Given the description of an element on the screen output the (x, y) to click on. 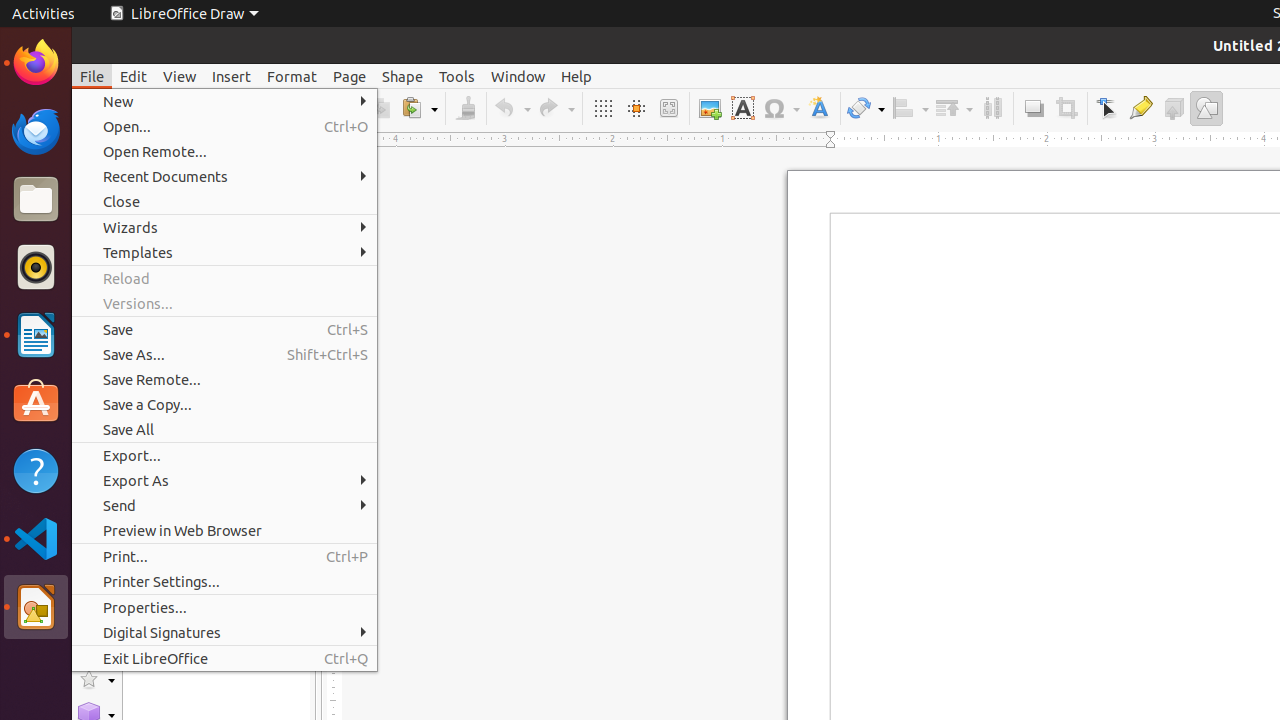
View Element type: menu (179, 76)
Paste Element type: push-button (419, 108)
Clone Element type: push-button (465, 108)
LibreOffice Draw Element type: menu (183, 13)
Glue Points Element type: push-button (1140, 108)
